Given the description of an element on the screen output the (x, y) to click on. 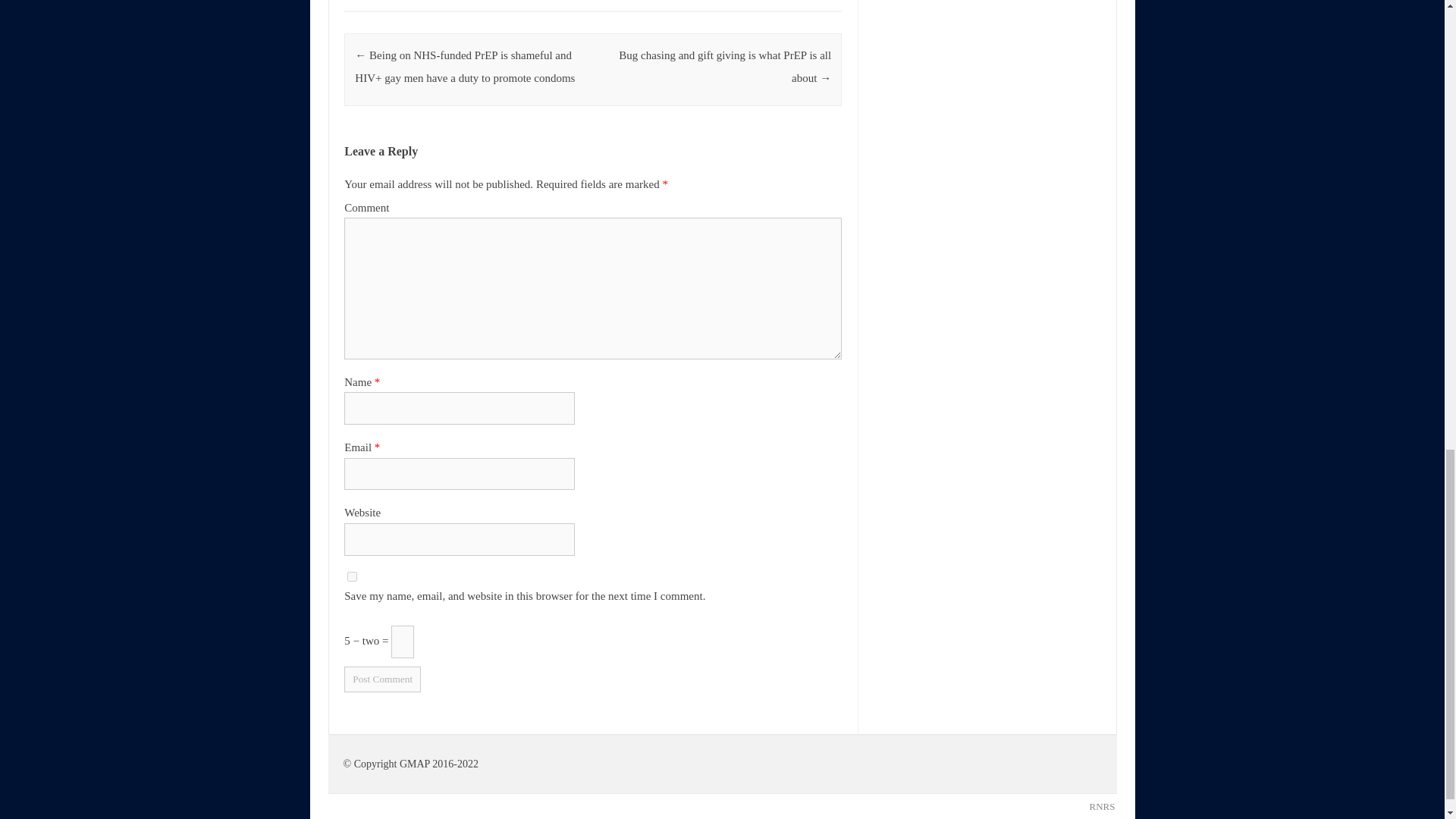
yes (351, 576)
Post Comment (381, 679)
Post Comment (381, 679)
